Given the description of an element on the screen output the (x, y) to click on. 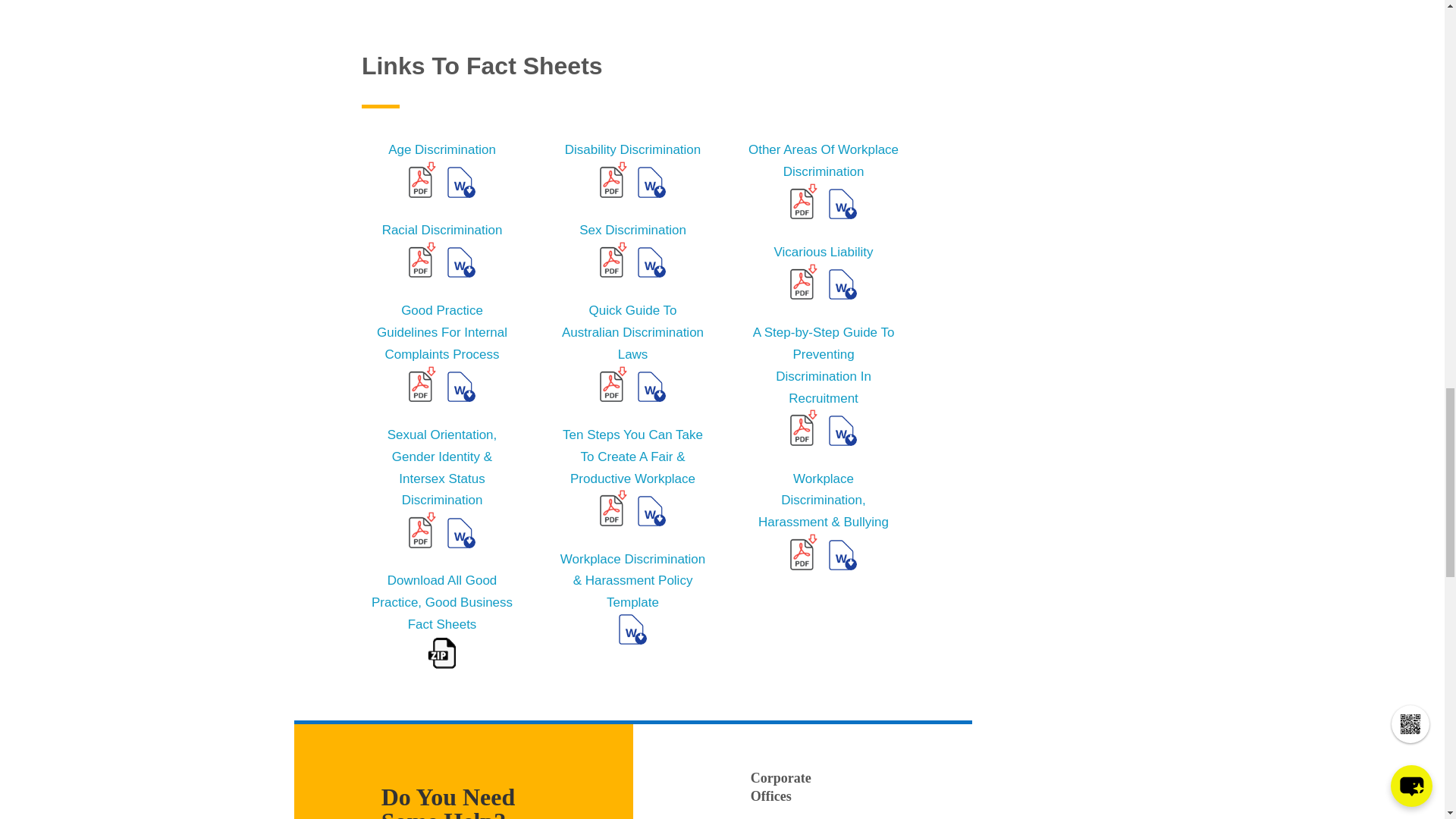
Download Word Doc (461, 182)
